Given the description of an element on the screen output the (x, y) to click on. 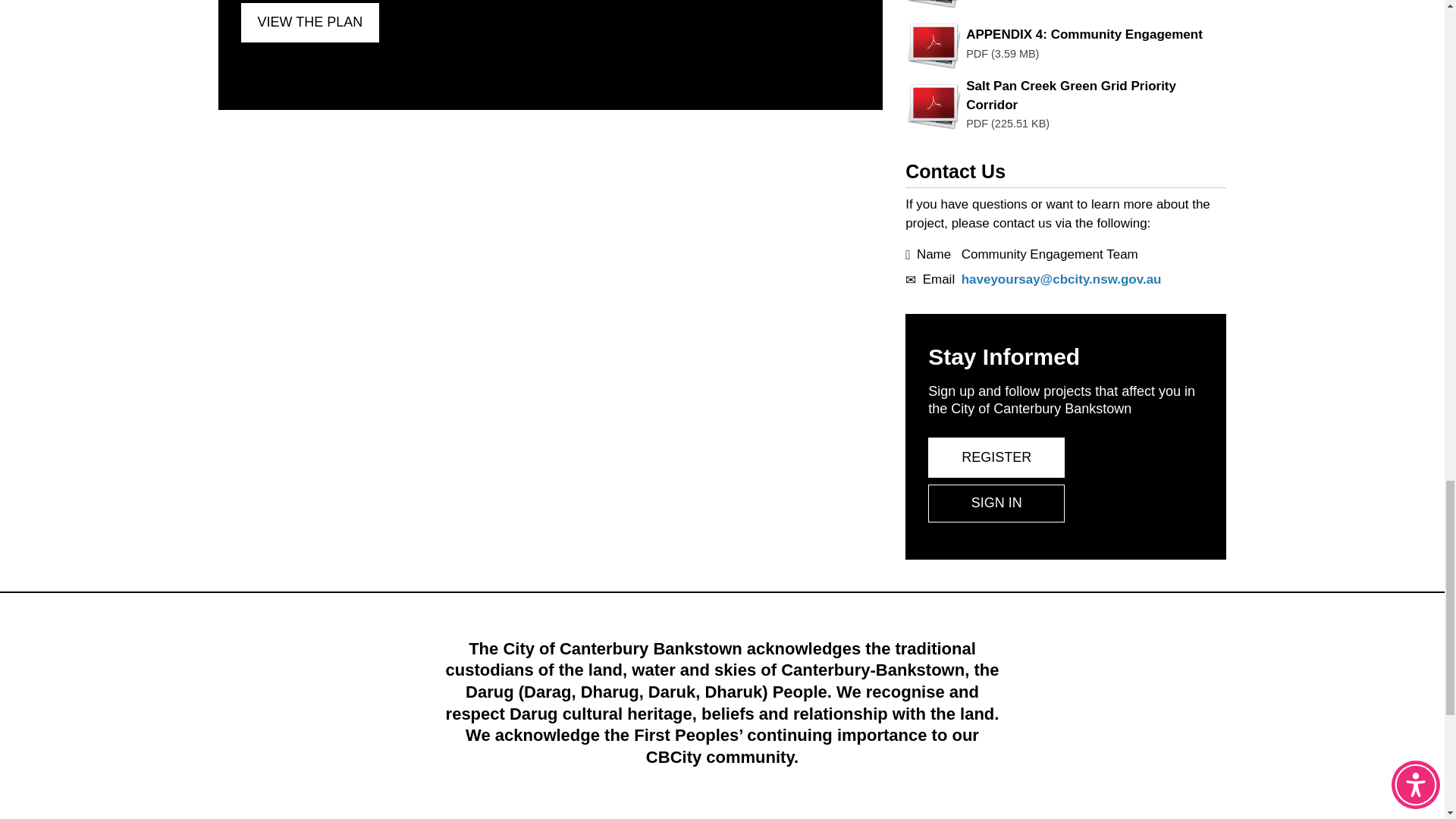
VIEW THE PLAN (310, 22)
